Given the description of an element on the screen output the (x, y) to click on. 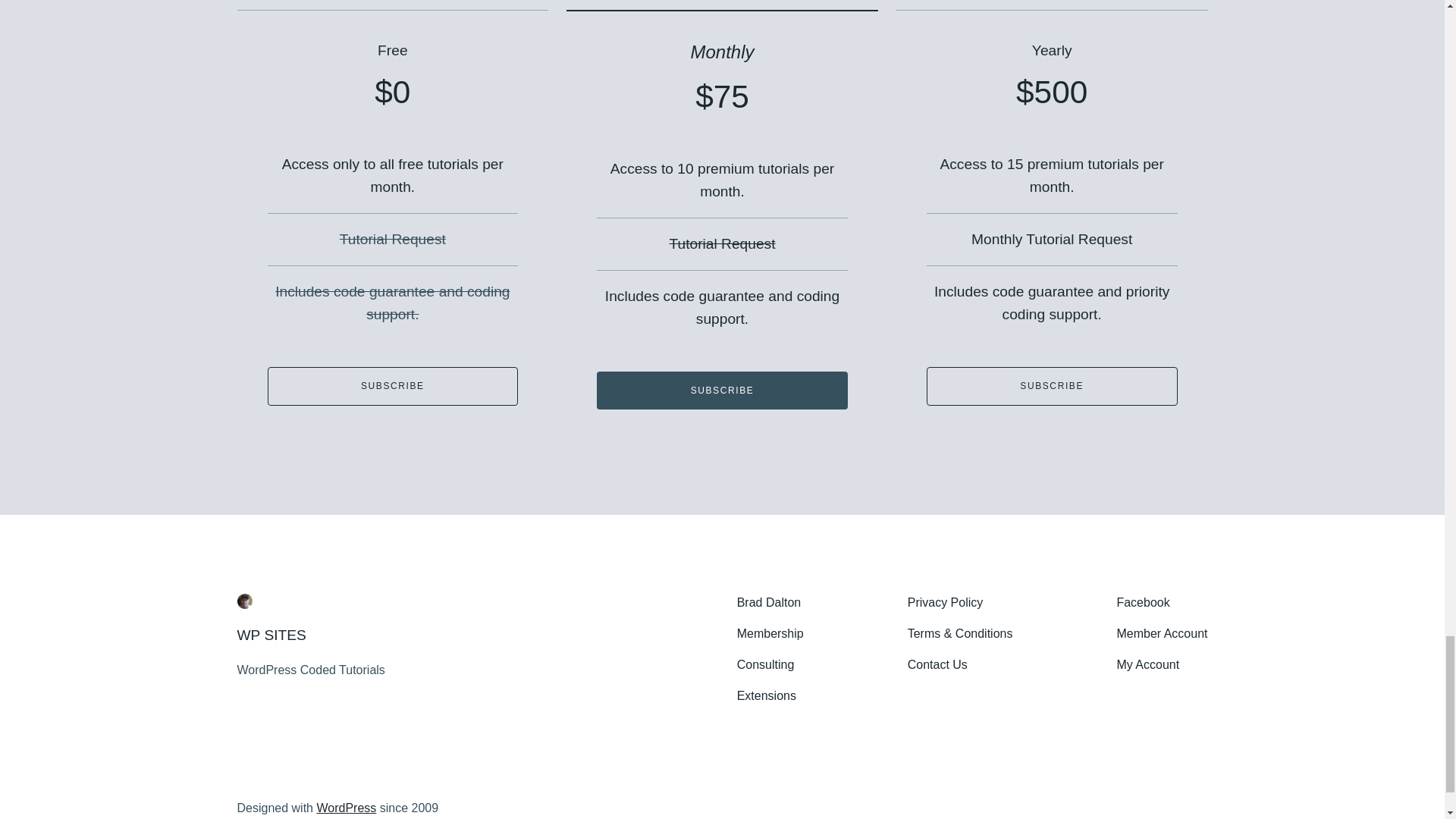
SUBSCRIBE (1051, 385)
SUBSCRIBE (392, 385)
WP SITES (270, 634)
SUBSCRIBE (721, 390)
